Given the description of an element on the screen output the (x, y) to click on. 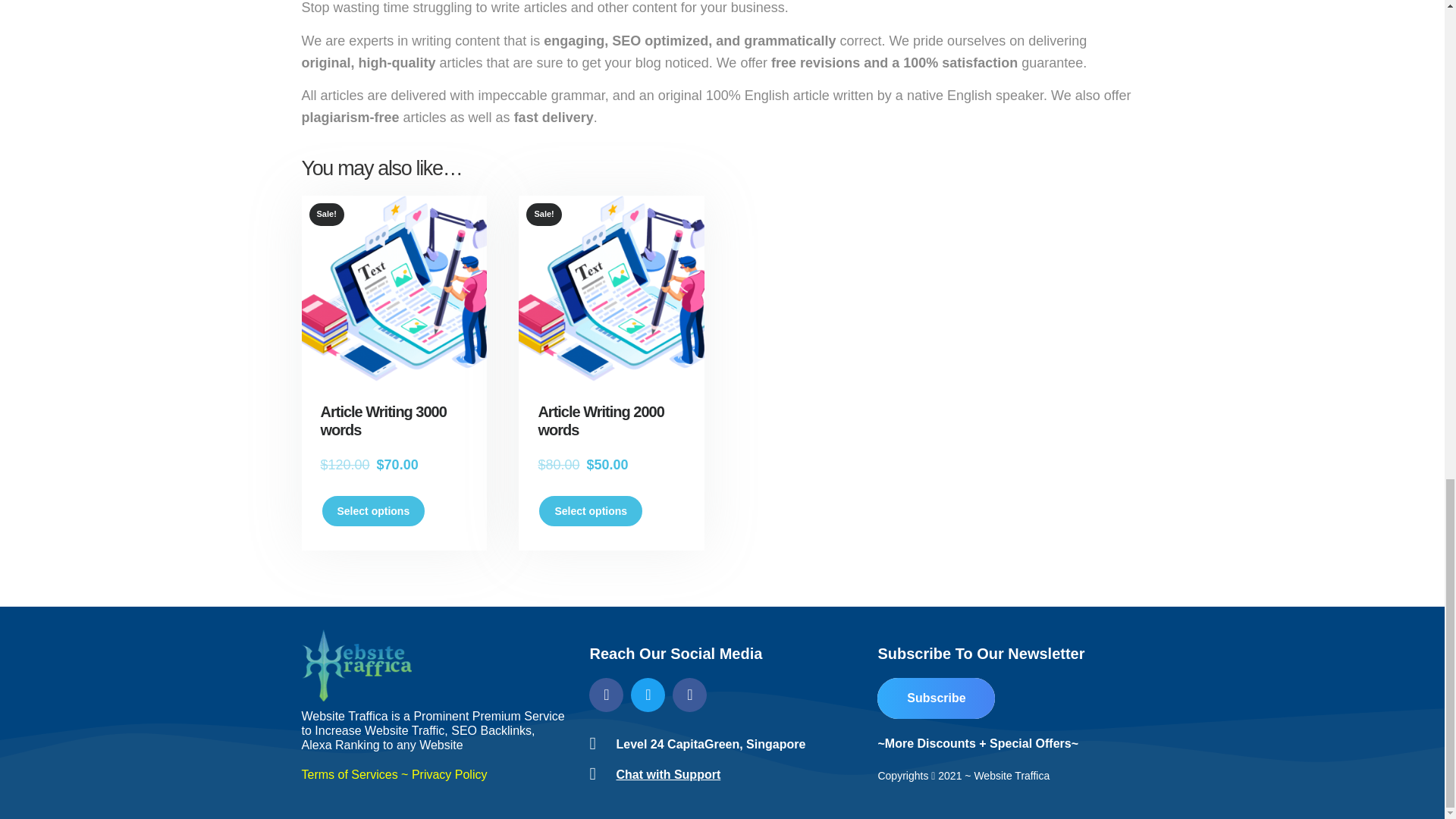
Website Traffica (356, 665)
Website Traffica LinkedIn (689, 694)
Website Traffica Twitter (647, 694)
Website Traffica Facebook (606, 694)
